Given the description of an element on the screen output the (x, y) to click on. 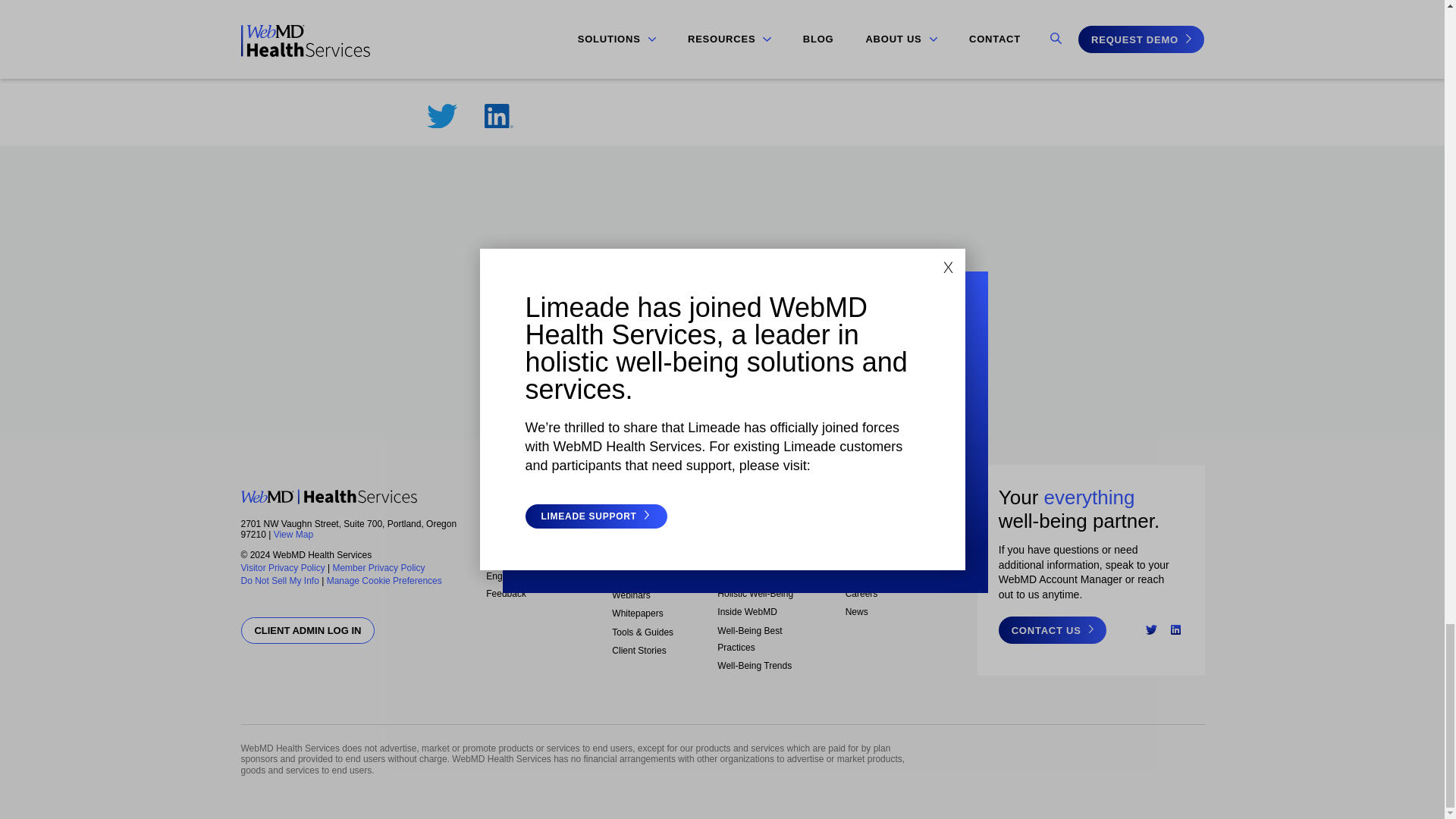
Ideas for Elevating Your Employee Well-Being Experience (717, 7)
